Given the description of an element on the screen output the (x, y) to click on. 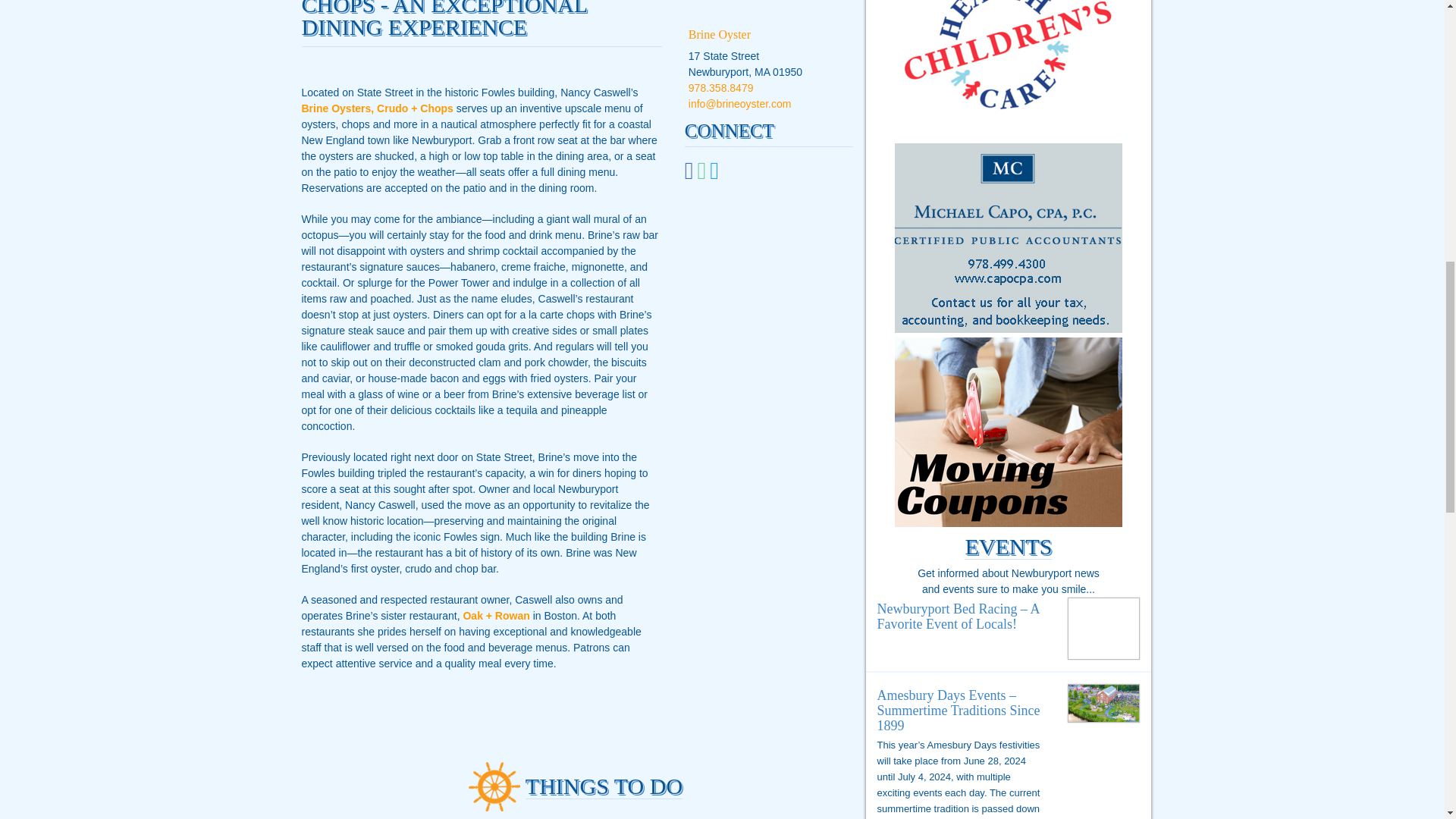
Brine Oyster (719, 33)
978.358.8479 (721, 87)
